Given the description of an element on the screen output the (x, y) to click on. 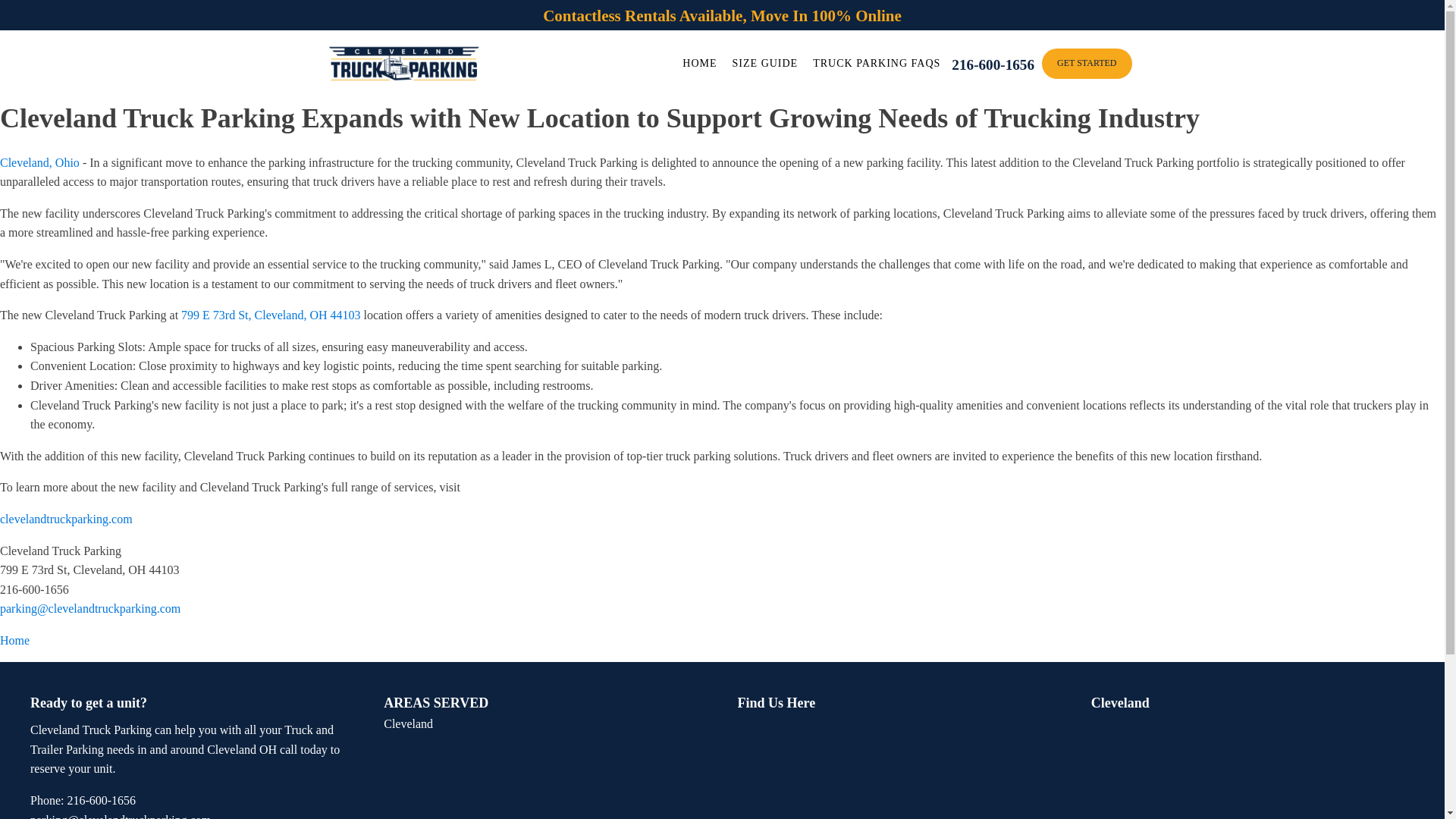
Home (14, 640)
799 E 73rd St, Cleveland, OH 44103 (269, 314)
HOME (699, 63)
216-600-1656 (990, 63)
Cleveland, Ohio (40, 162)
SIZE GUIDE (765, 63)
GET STARTED (1086, 62)
 216-600-1656 (82, 800)
TRUCK PARKING FAQS (876, 63)
Cleveland (408, 723)
clevelandtruckparking.com (66, 518)
